Given the description of an element on the screen output the (x, y) to click on. 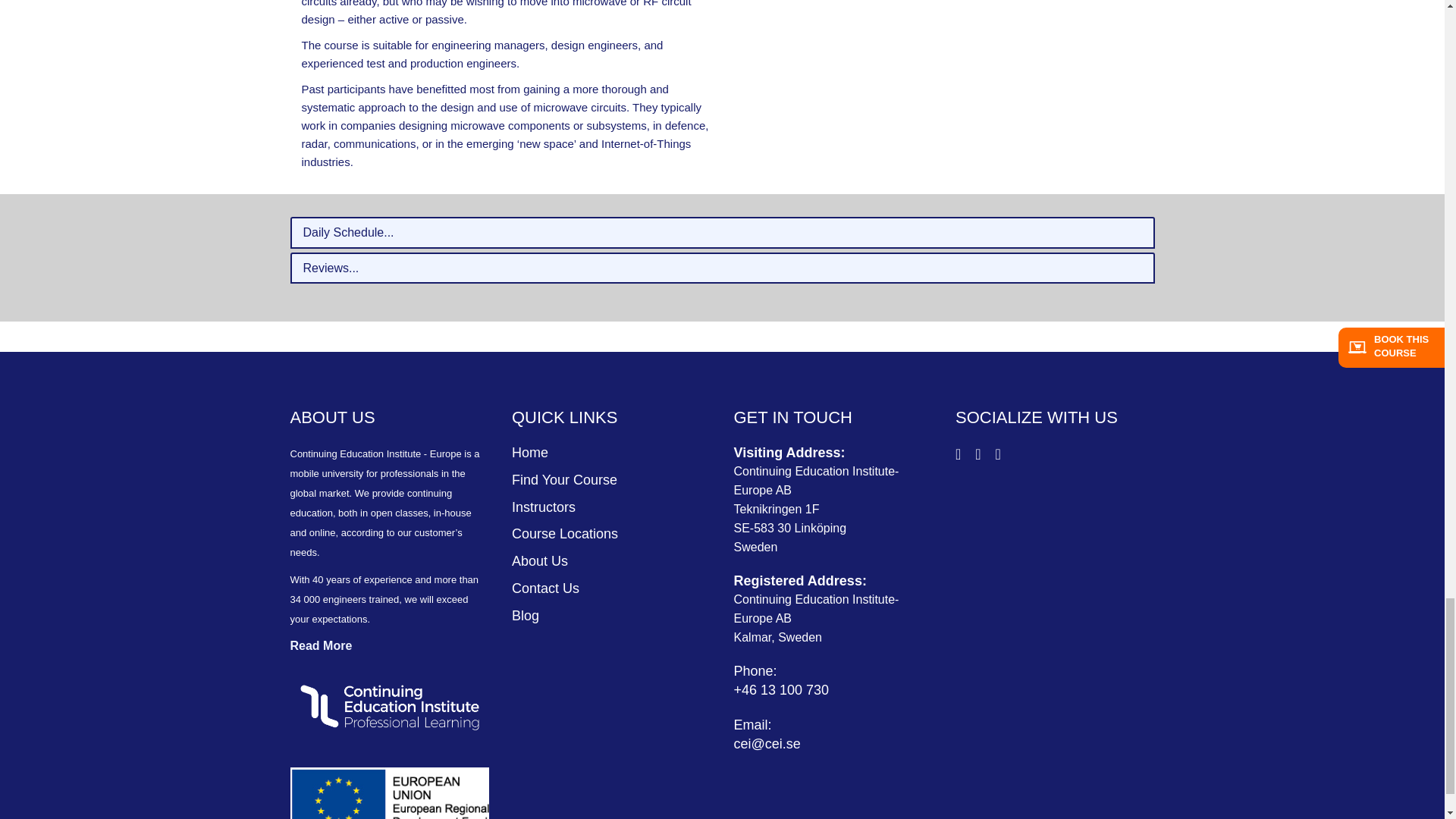
Contact Us (545, 588)
Reviews... (722, 267)
Daily Schedule... (722, 232)
Read more (320, 645)
About Us (539, 560)
Read More (320, 645)
Find Your Course (564, 479)
Course Locations (564, 533)
Instructors (543, 507)
Home (530, 452)
Blog (525, 615)
